Given the description of an element on the screen output the (x, y) to click on. 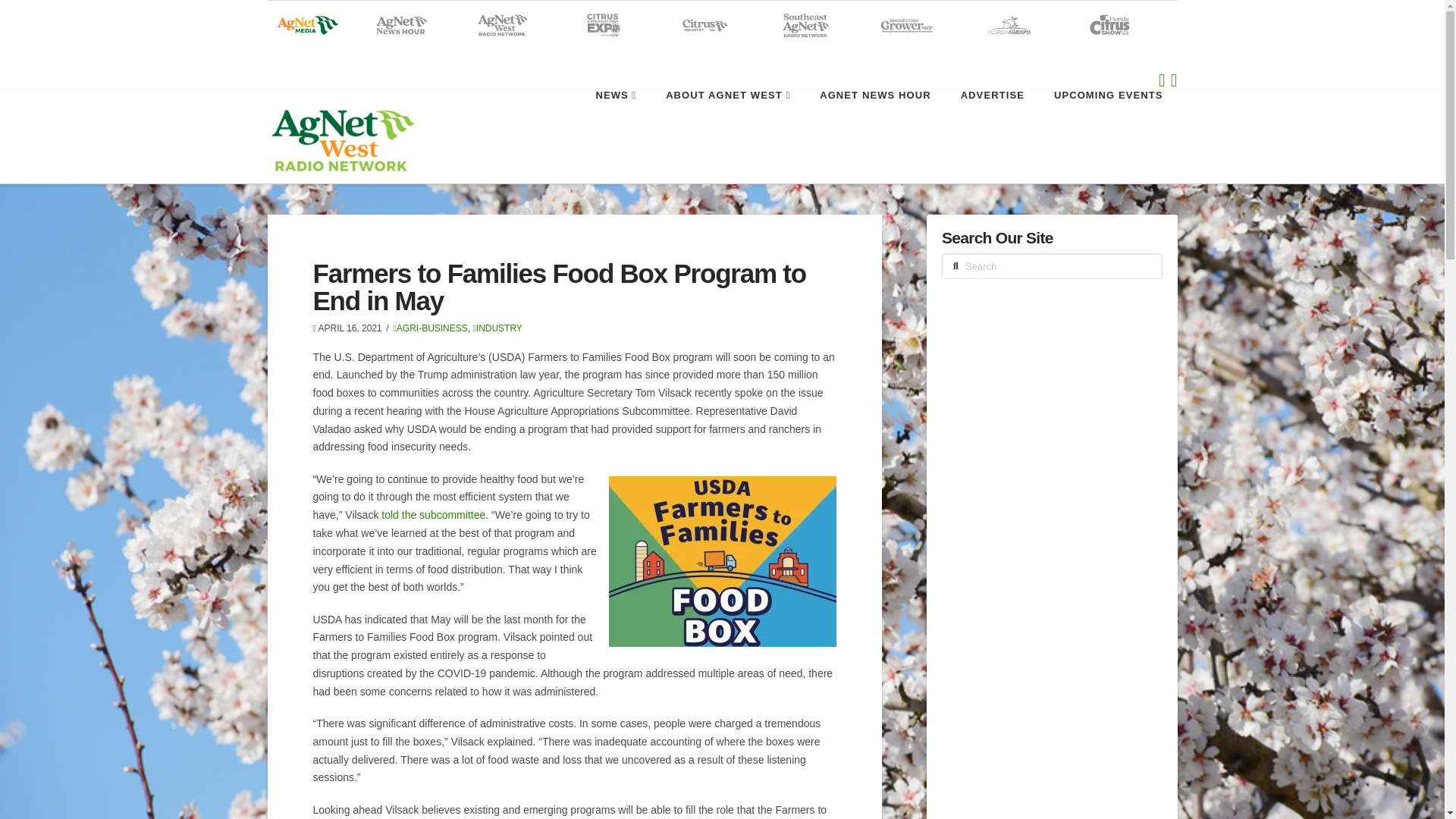
NEWS (614, 124)
